Given the description of an element on the screen output the (x, y) to click on. 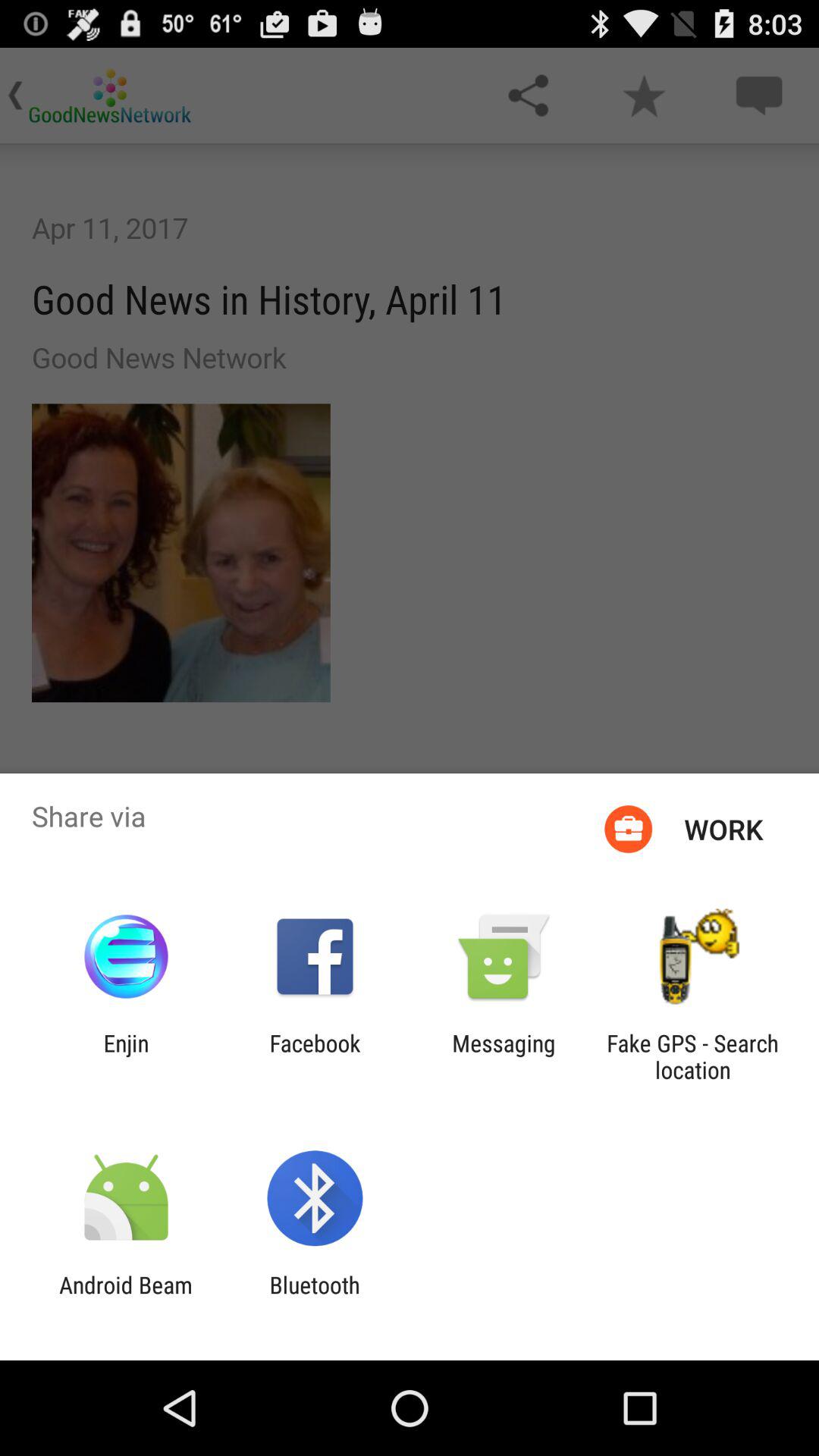
tap the app next to the fake gps search (503, 1056)
